Given the description of an element on the screen output the (x, y) to click on. 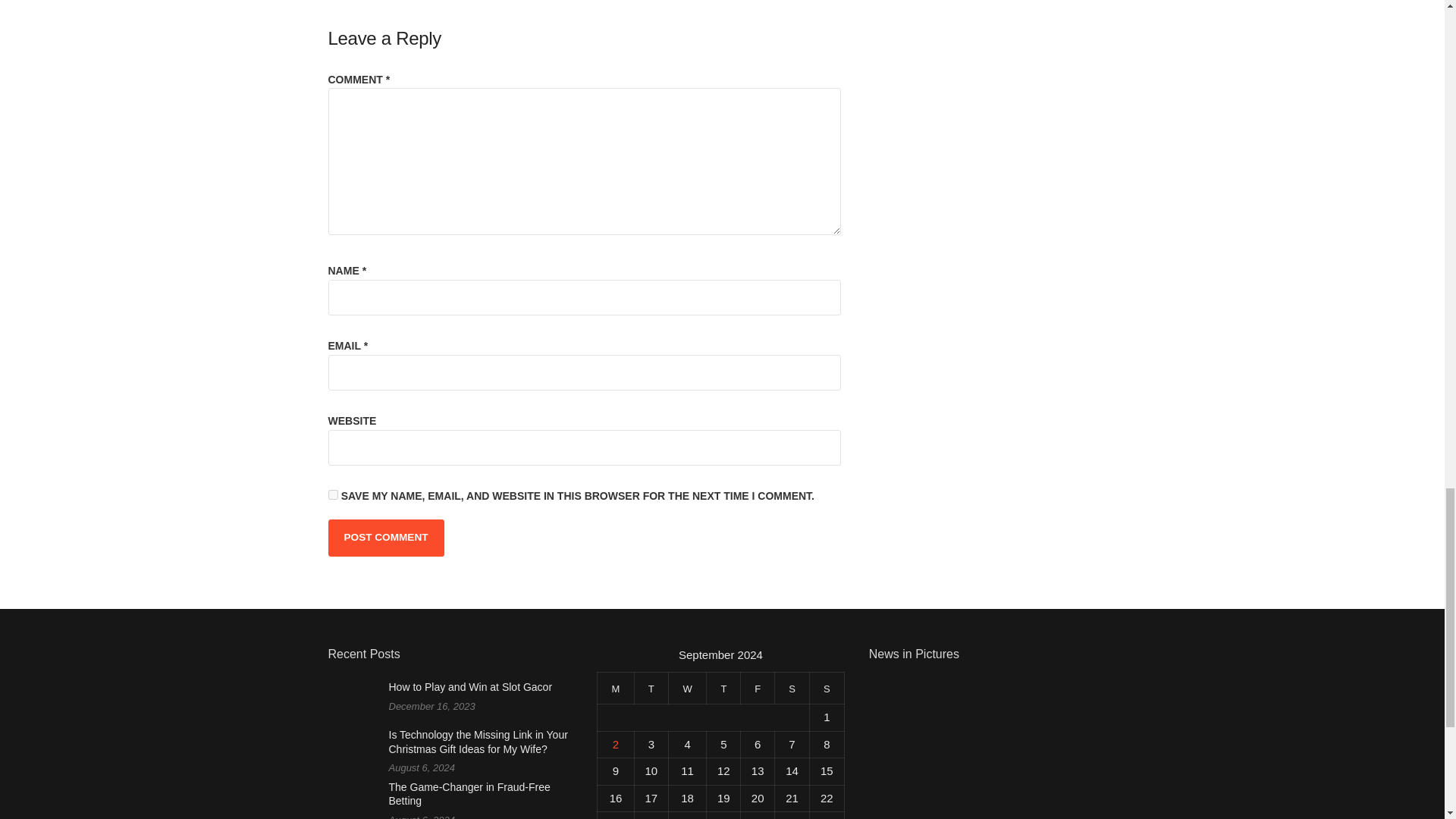
Post Comment (385, 537)
Post Comment (385, 537)
yes (332, 494)
